Given the description of an element on the screen output the (x, y) to click on. 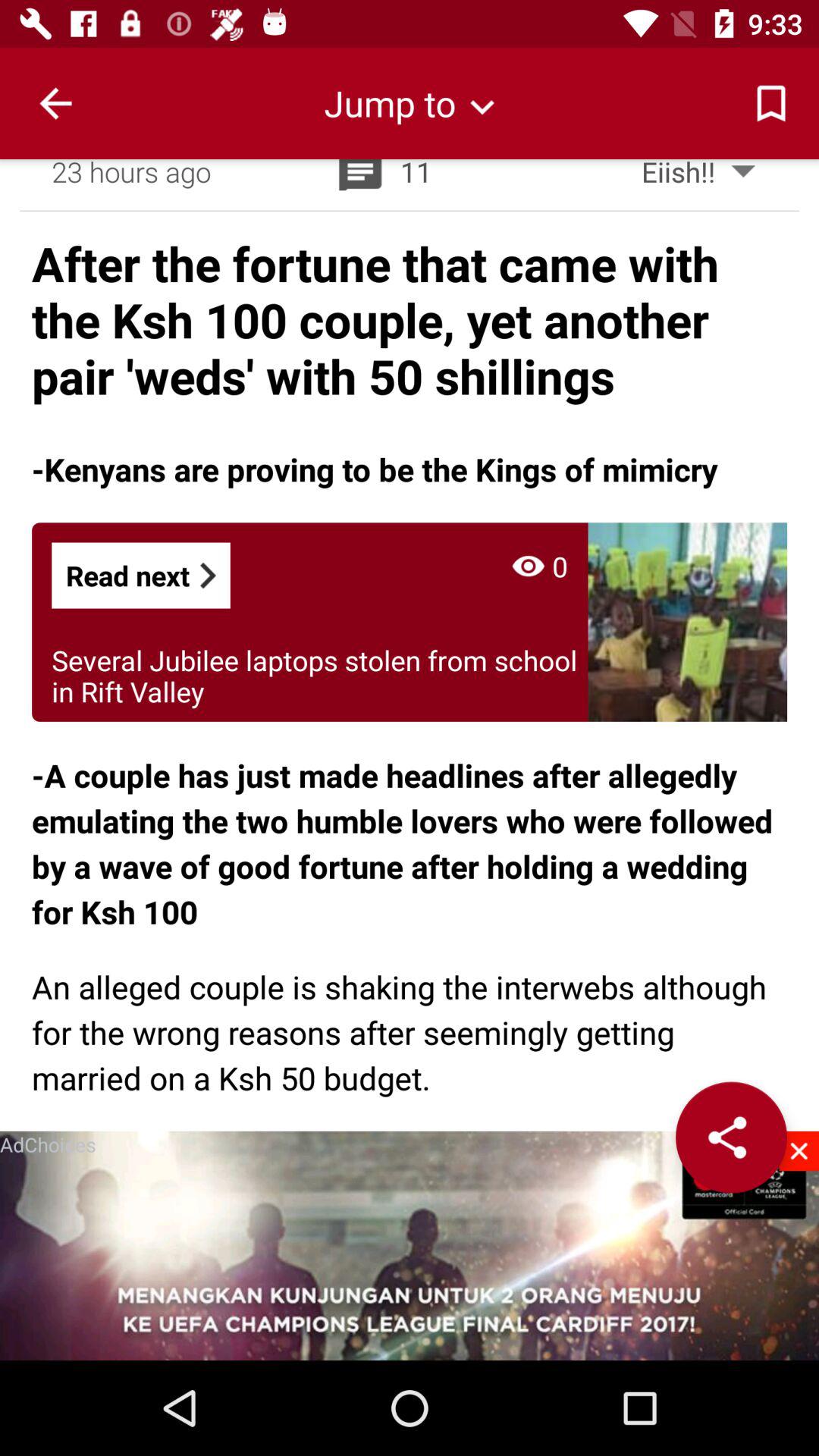
jump to dropdown menu (409, 103)
